Given the description of an element on the screen output the (x, y) to click on. 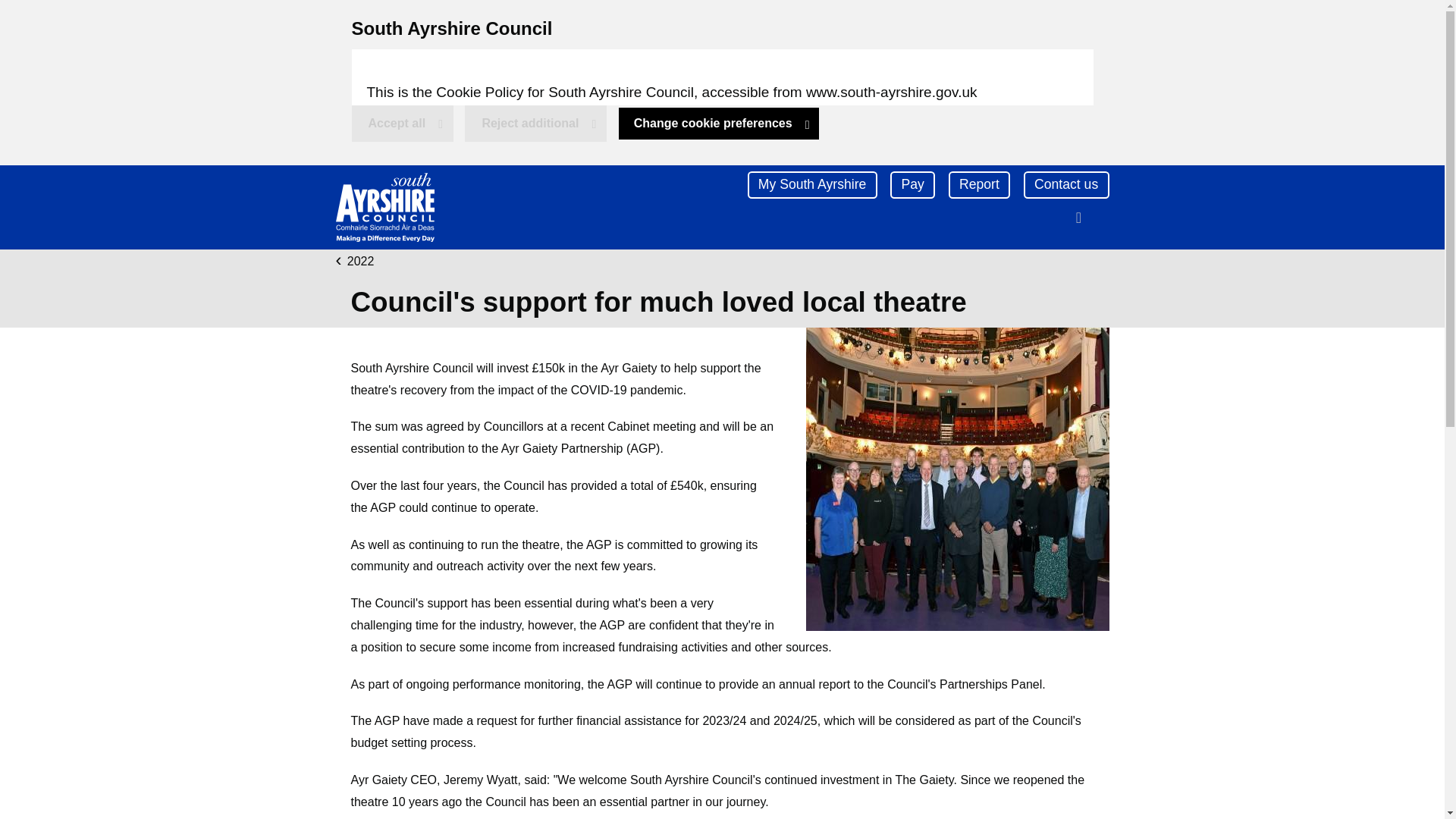
Reject additional (535, 123)
Contact us (1066, 185)
My South Ayrshire (812, 185)
Accept all (403, 123)
Change cookie preferences (718, 123)
Skip to main content (19, 15)
Gaiety Theatre 400 x 400 (956, 478)
Pay (911, 185)
Report (979, 185)
